Given the description of an element on the screen output the (x, y) to click on. 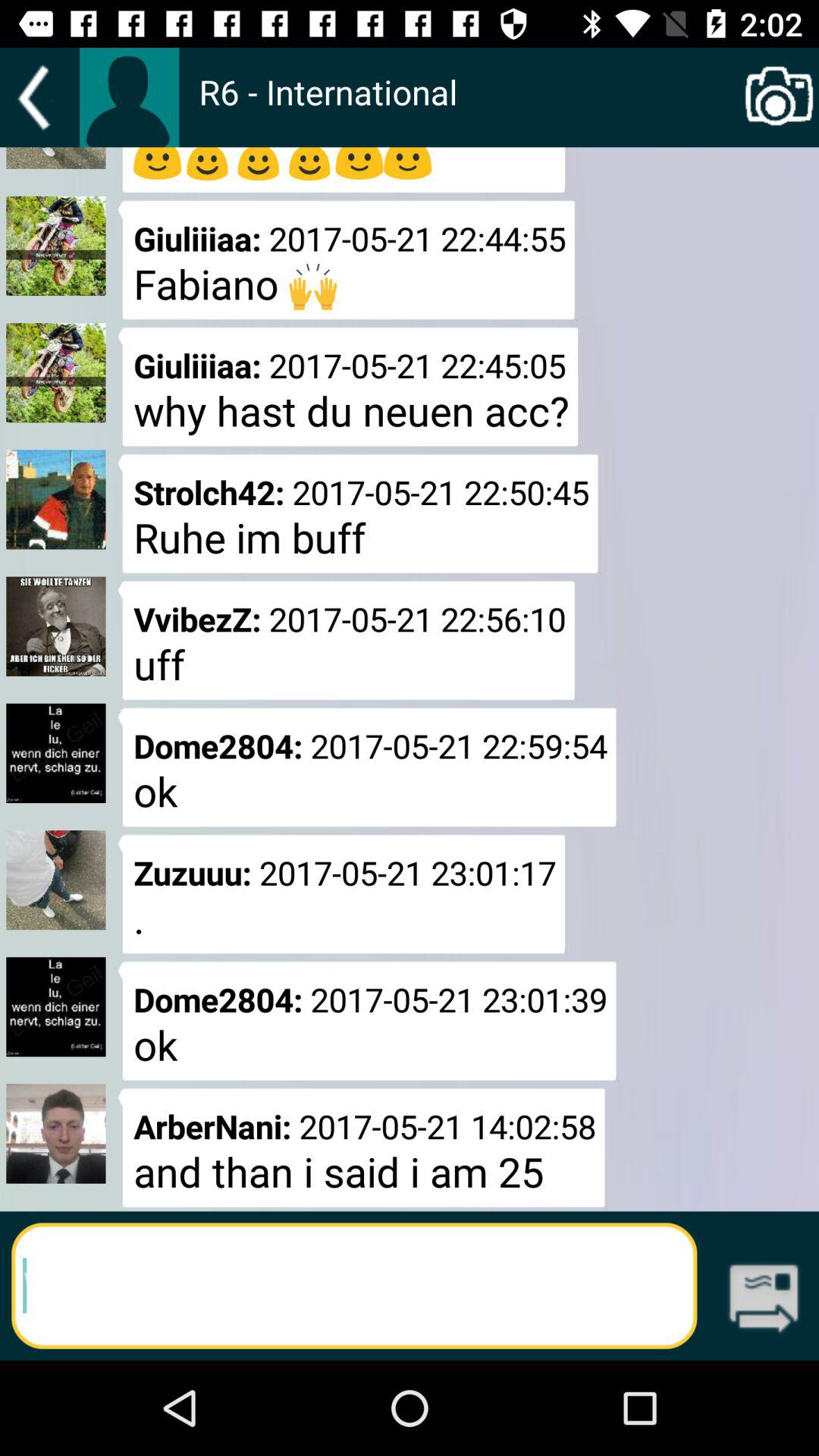
launch app above vvibezz 2017 05 icon (358, 513)
